Given the description of an element on the screen output the (x, y) to click on. 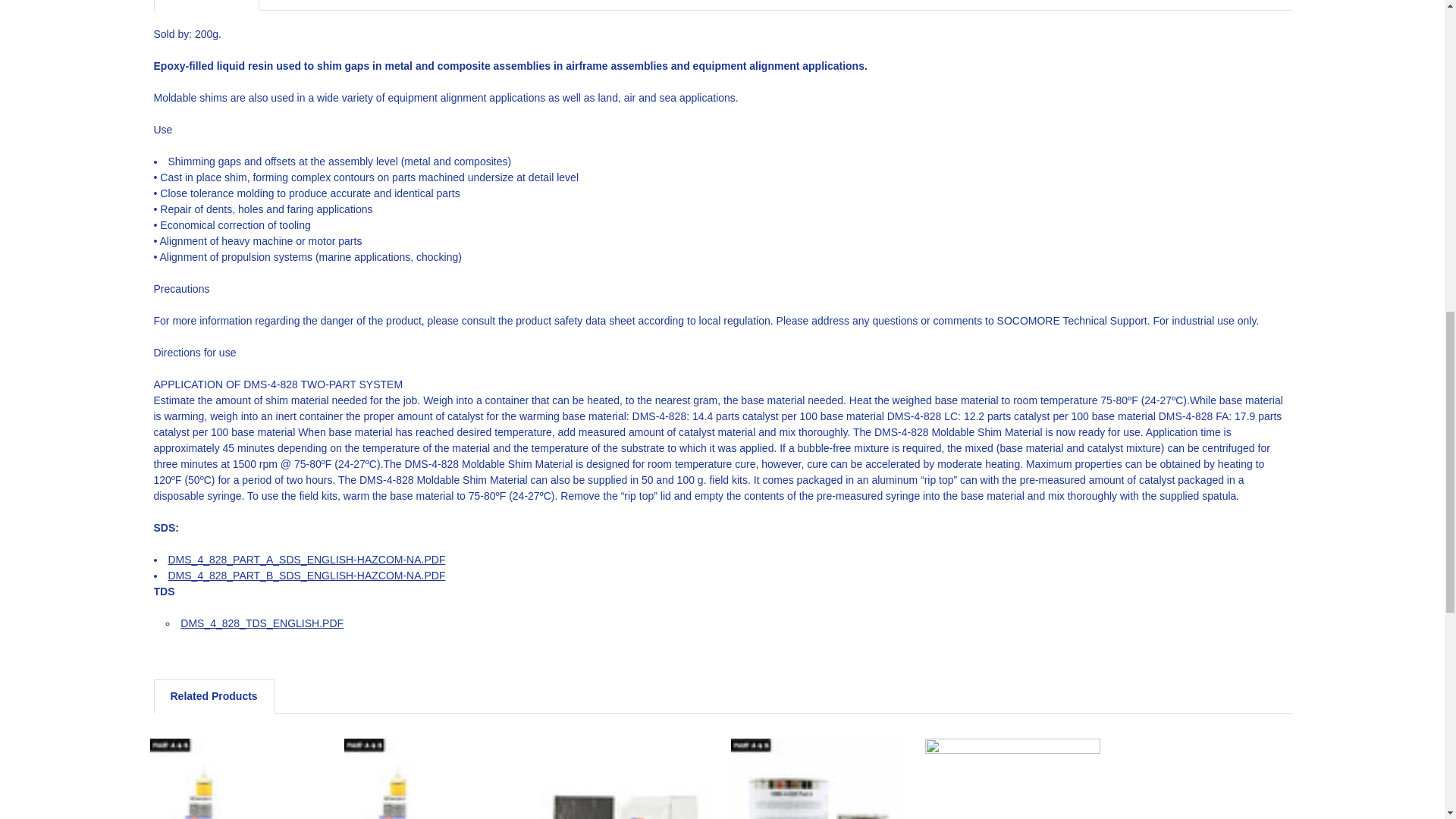
SHIMS DMS-4-828 MOLDABLE SHIM (236, 778)
SHIMS DMS-4-828 FROZEN SHEET 0.040 (625, 778)
